Given the description of an element on the screen output the (x, y) to click on. 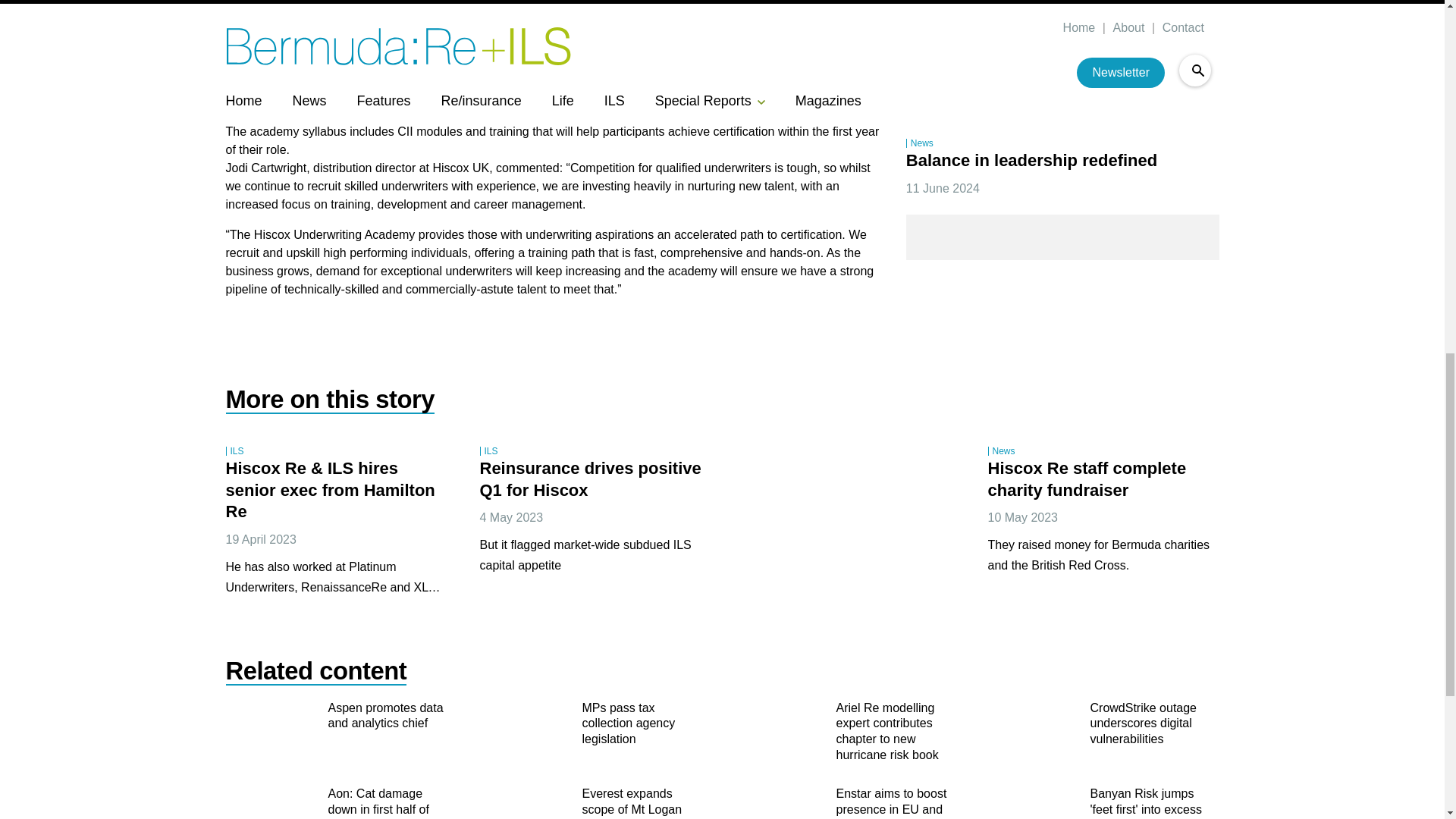
Balance in leadership redefined (1033, 160)
3rd party ad content (848, 524)
Hiscox Re staff complete charity fundraiser (1089, 480)
Reinsurance drives positive Q1 for Hiscox (591, 480)
